Given the description of an element on the screen output the (x, y) to click on. 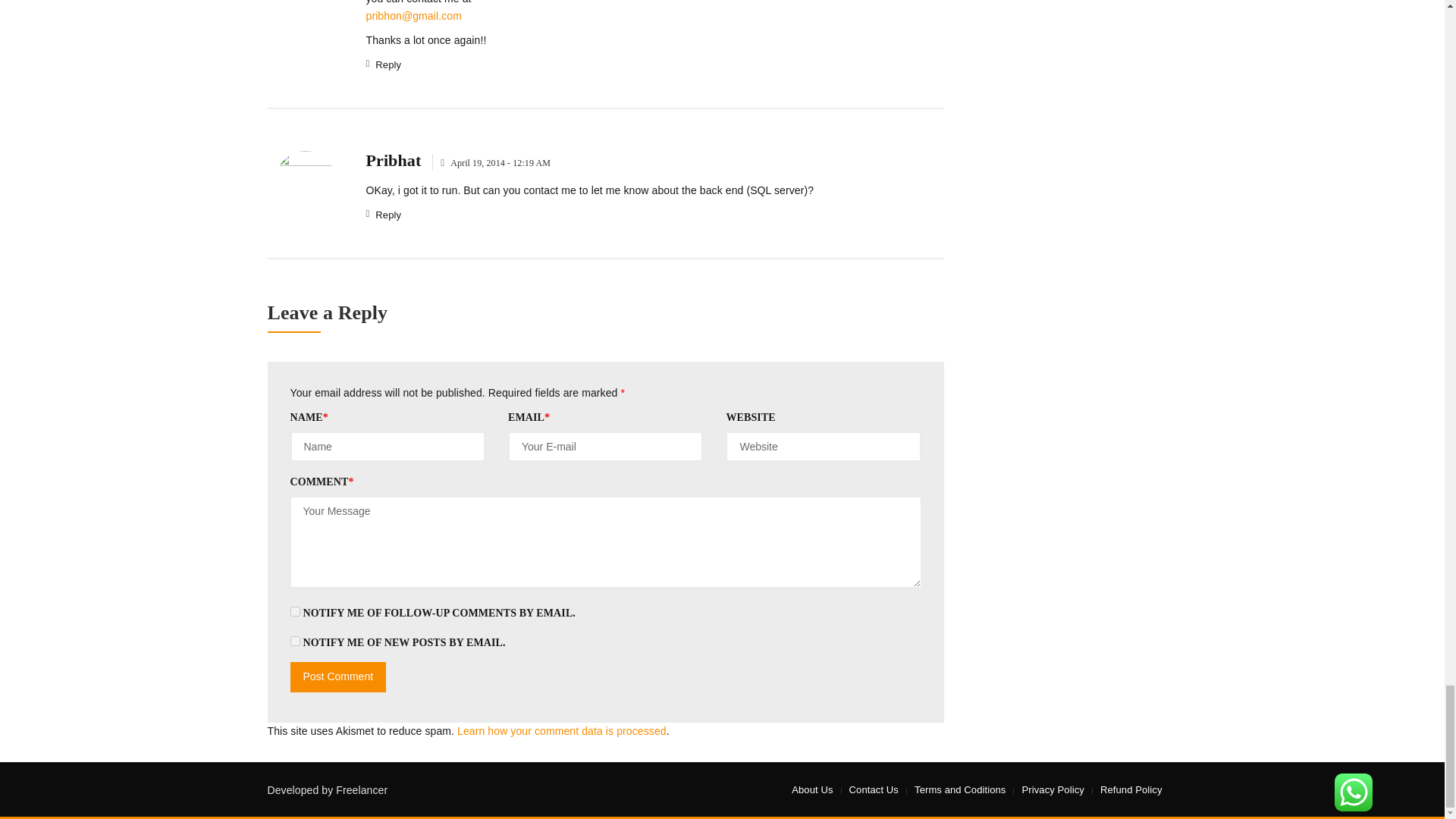
subscribe (294, 611)
subscribe (294, 641)
Post Comment (337, 676)
